Given the description of an element on the screen output the (x, y) to click on. 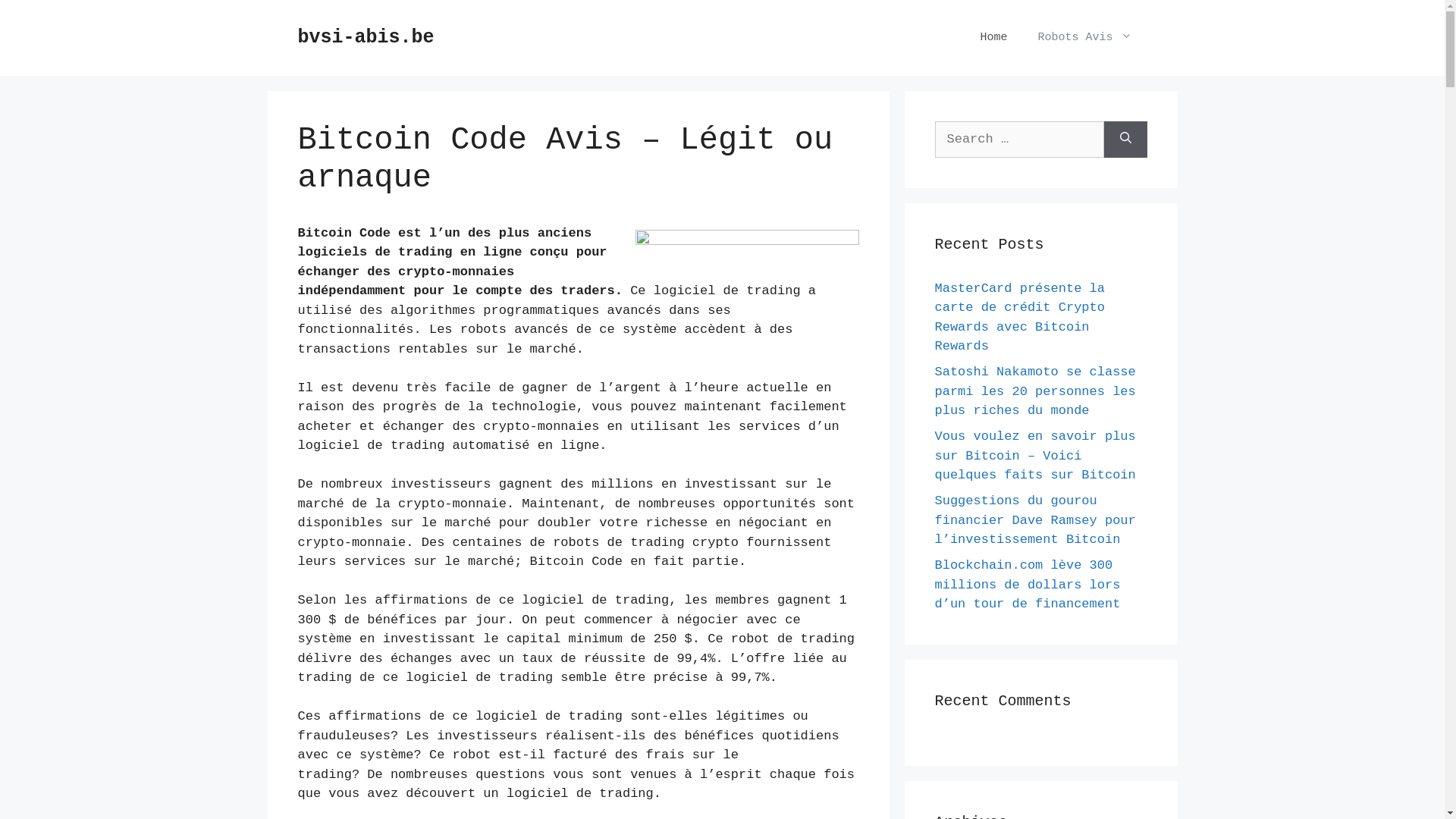
Search for: Element type: hover (1018, 139)
Robots Avis Element type: text (1084, 37)
Home Element type: text (993, 37)
bvsi-abis.be Element type: text (365, 37)
